Given the description of an element on the screen output the (x, y) to click on. 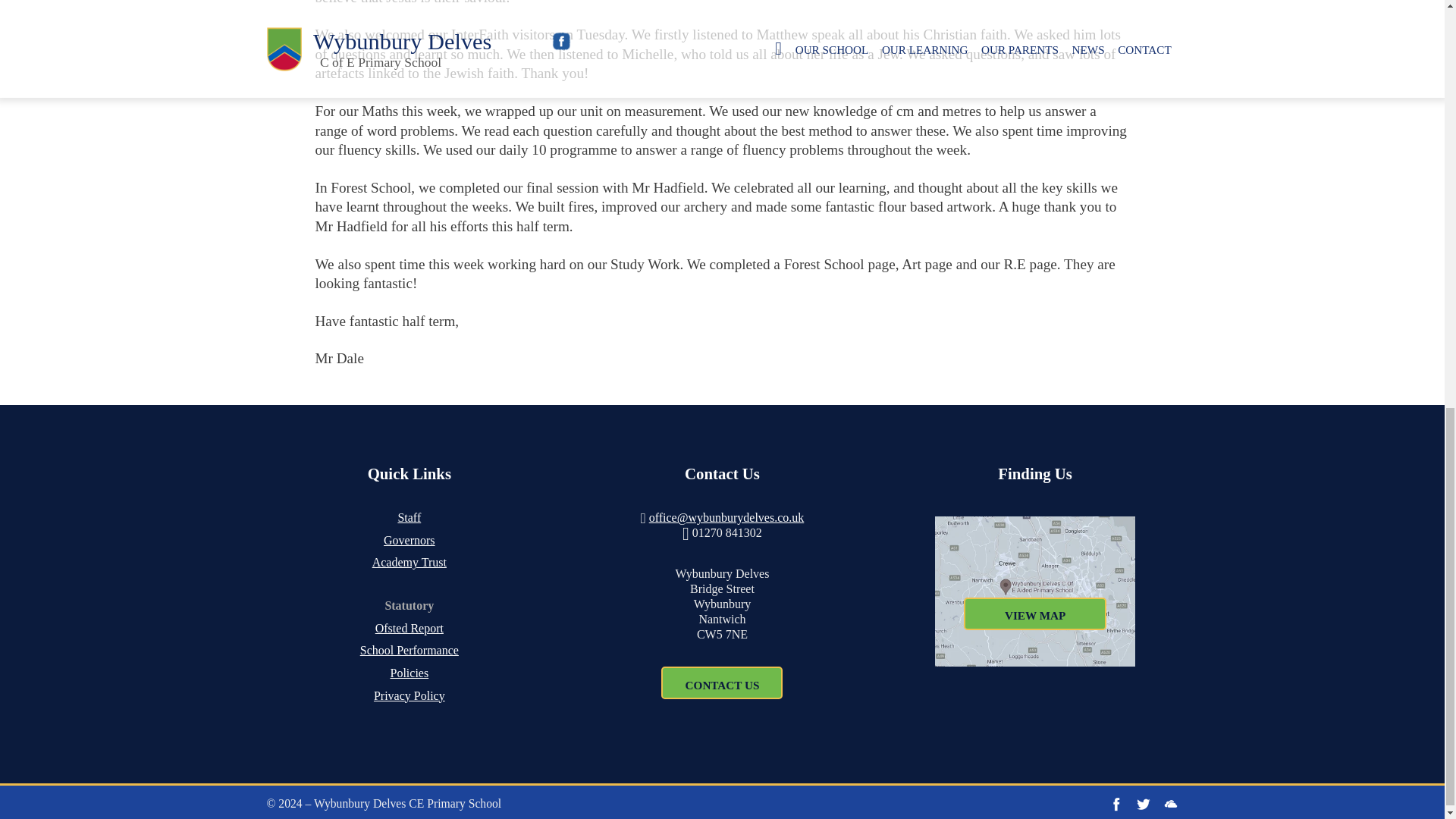
Visit our X Feed (1143, 803)
Sign into the Cloud (1170, 803)
Visit our Facebook Page (1116, 803)
